Given the description of an element on the screen output the (x, y) to click on. 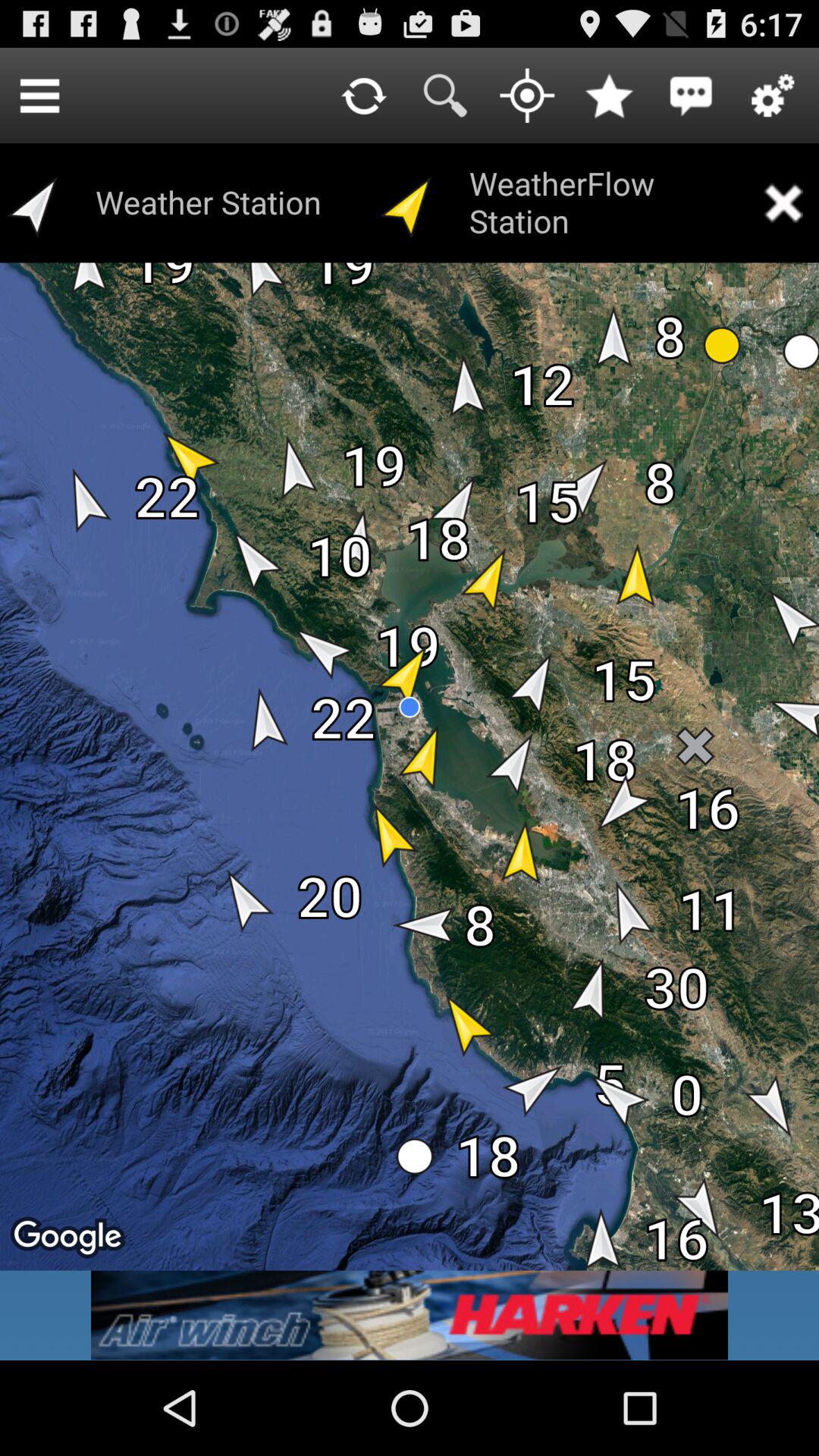
clickable advertisement (409, 1314)
